Given the description of an element on the screen output the (x, y) to click on. 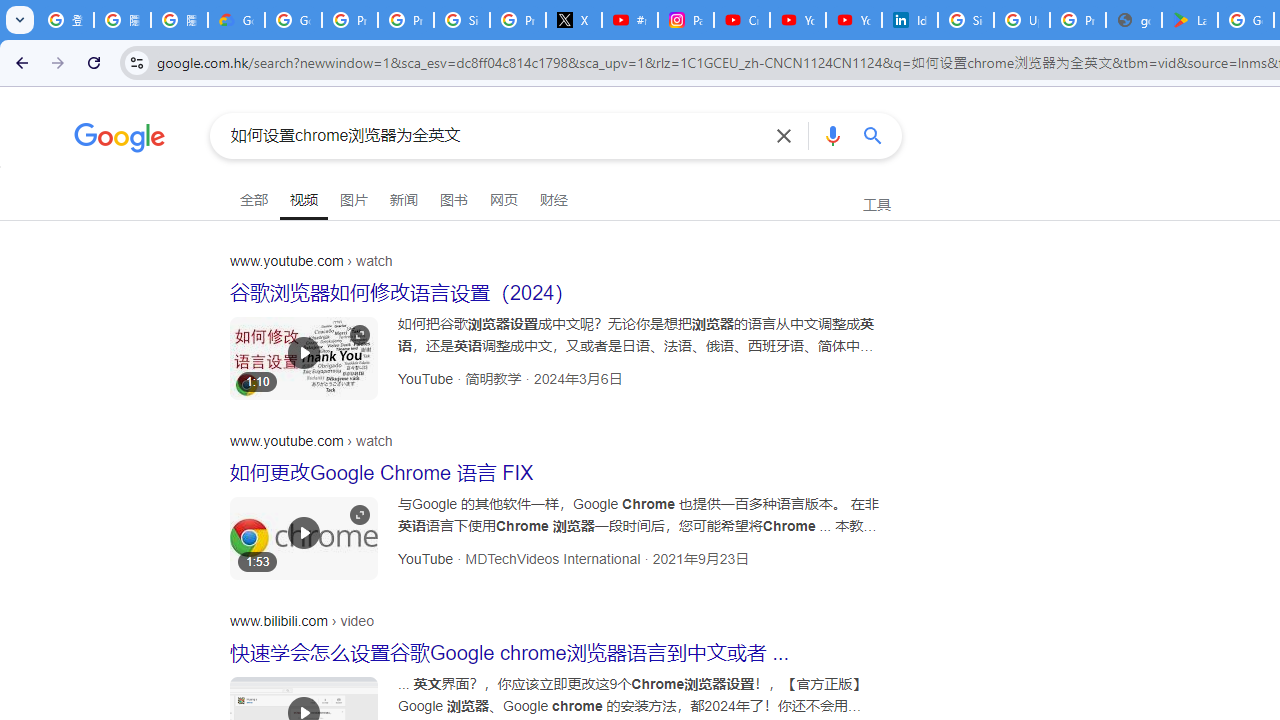
#nbabasketballhighlights - YouTube (629, 20)
google_privacy_policy_en.pdf (1133, 20)
Privacy Help Center - Policies Help (405, 20)
